Given the description of an element on the screen output the (x, y) to click on. 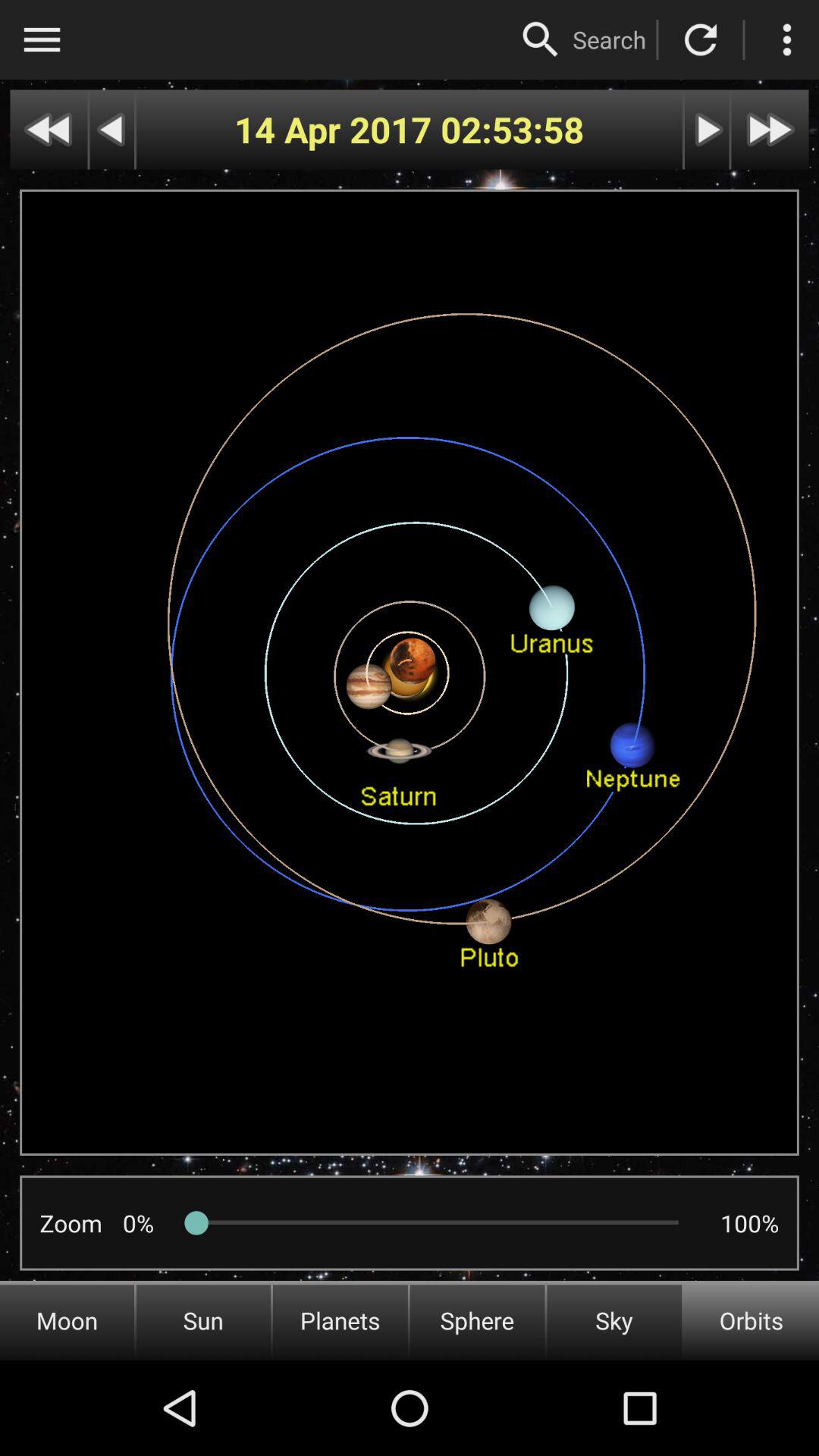
launch item above 02:53:58 item (540, 39)
